Given the description of an element on the screen output the (x, y) to click on. 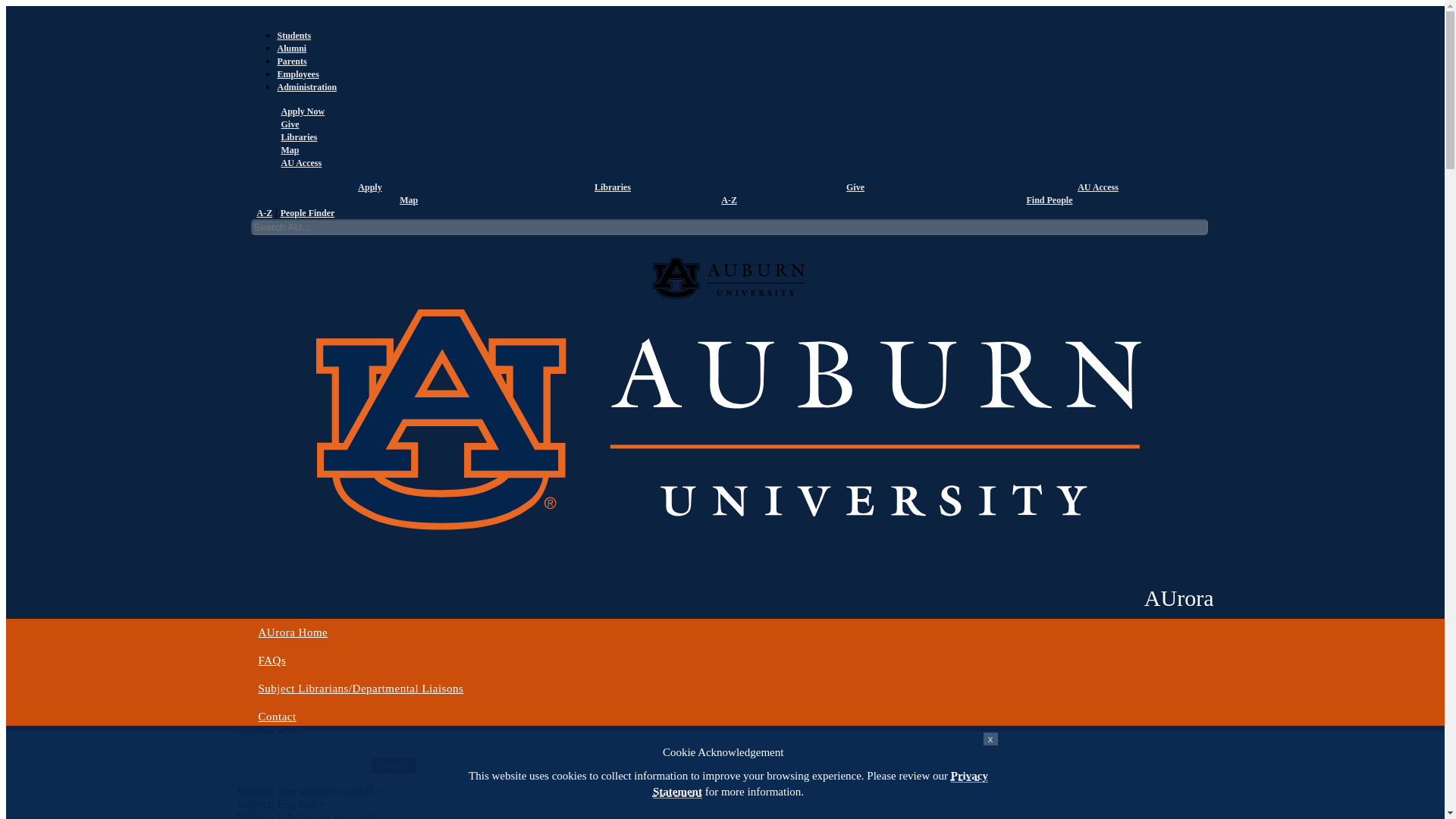
Map (288, 149)
x (990, 738)
Authors (446, 219)
Privacy Statement (820, 783)
Administration (307, 86)
Parents (292, 61)
Apply Now (301, 111)
FAQs (727, 660)
A-Z (726, 199)
Alumni (292, 48)
Contact (727, 716)
Contact (727, 716)
By Issue Date (267, 245)
People Finder (307, 213)
